Given the description of an element on the screen output the (x, y) to click on. 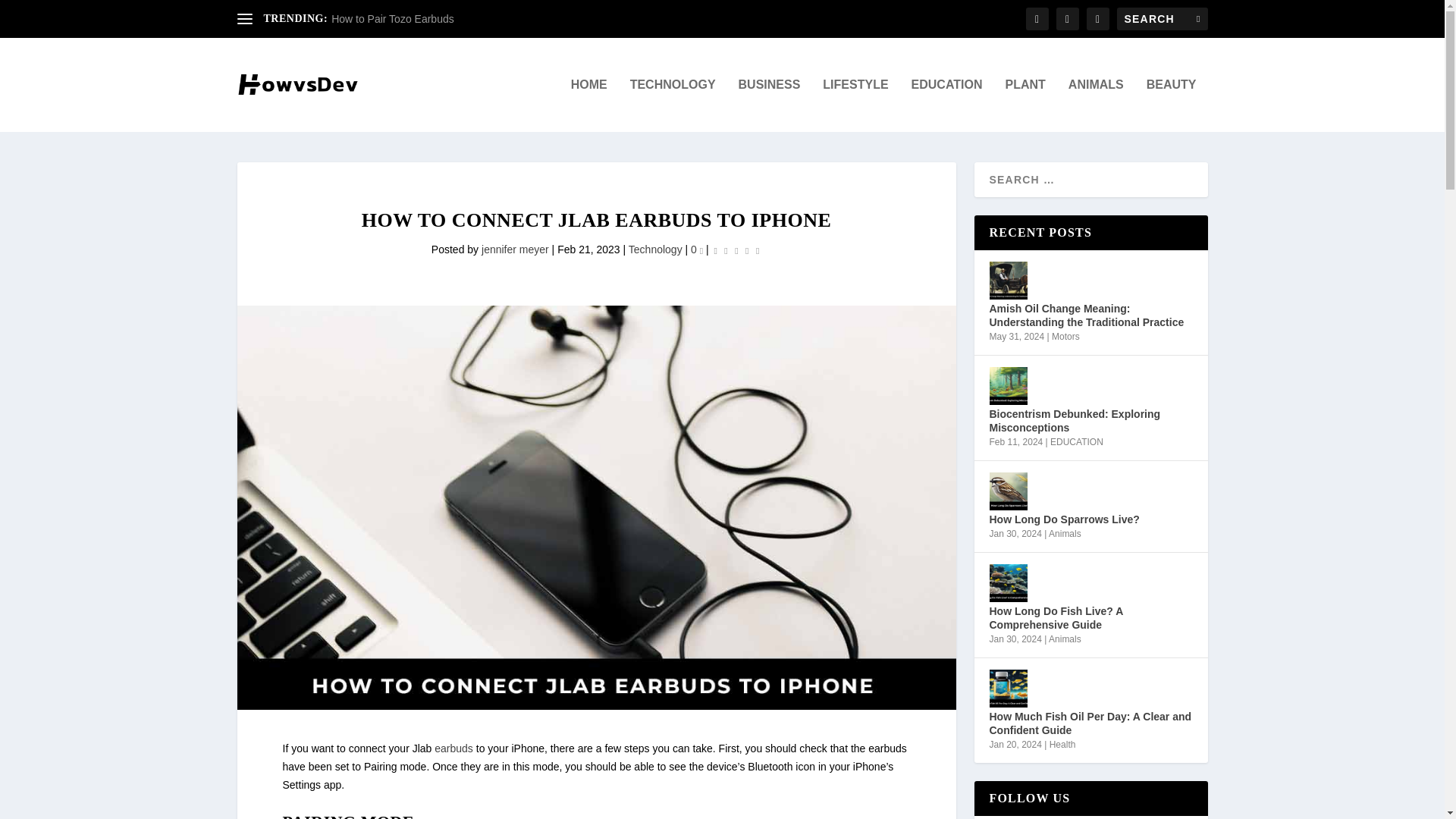
PLANT (1025, 104)
EDUCATION (946, 104)
comment count (701, 251)
How to Pair Tozo Earbuds (392, 19)
Posts by jennifer meyer (514, 249)
0 (696, 249)
ANIMALS (1096, 104)
jennifer meyer (514, 249)
Rating: 0.00 (736, 250)
Technology (655, 249)
BEAUTY (1171, 104)
Search for: (1161, 18)
TECHNOLOGY (673, 104)
earbuds (453, 748)
LIFESTYLE (855, 104)
